Given the description of an element on the screen output the (x, y) to click on. 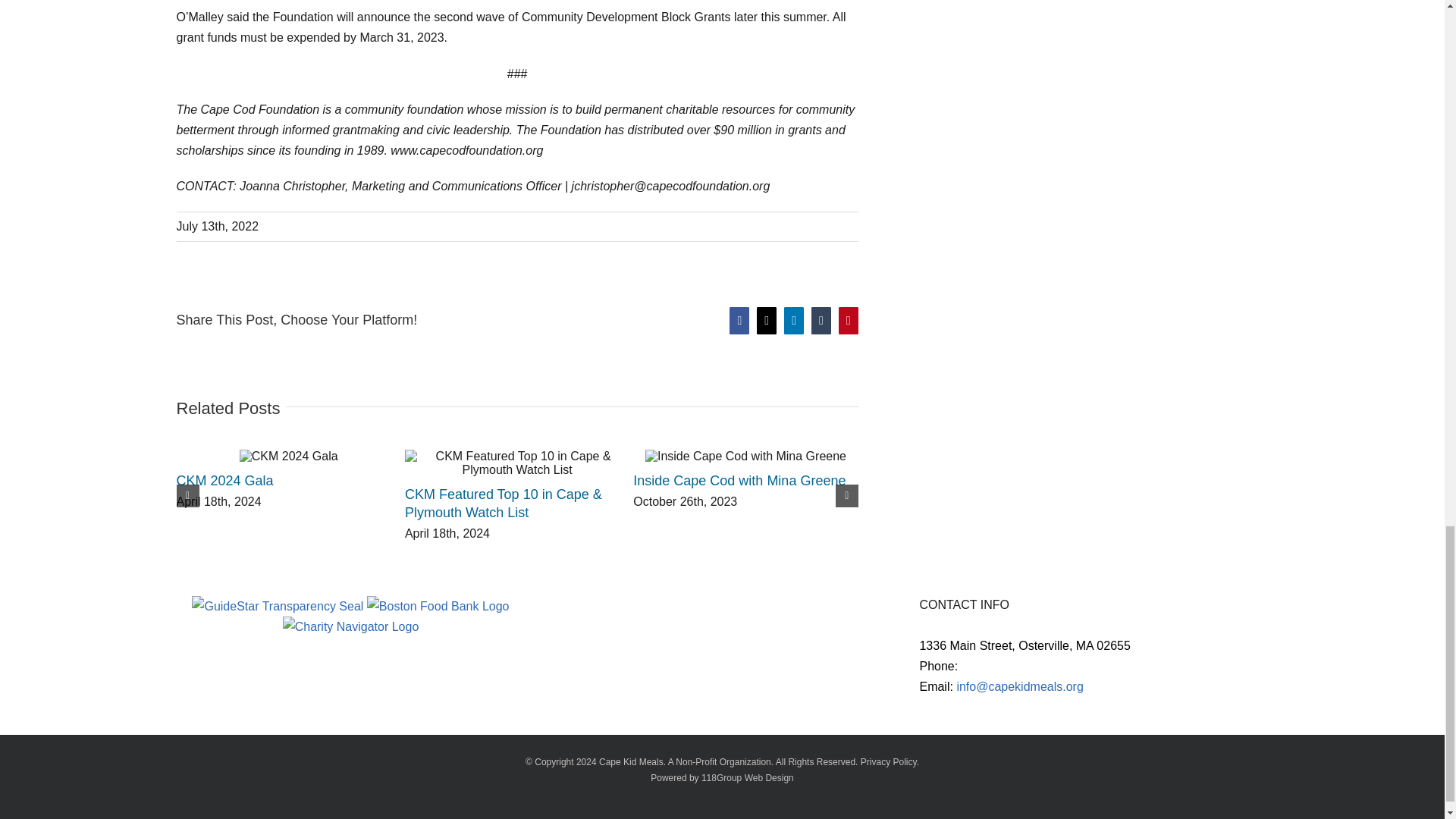
Inside Cape Cod with Mina Greene (739, 480)
CKM 2024 Gala (224, 480)
Inside Cape Cod with Mina Greene (739, 480)
CKM 2024 Gala (224, 480)
